Given the description of an element on the screen output the (x, y) to click on. 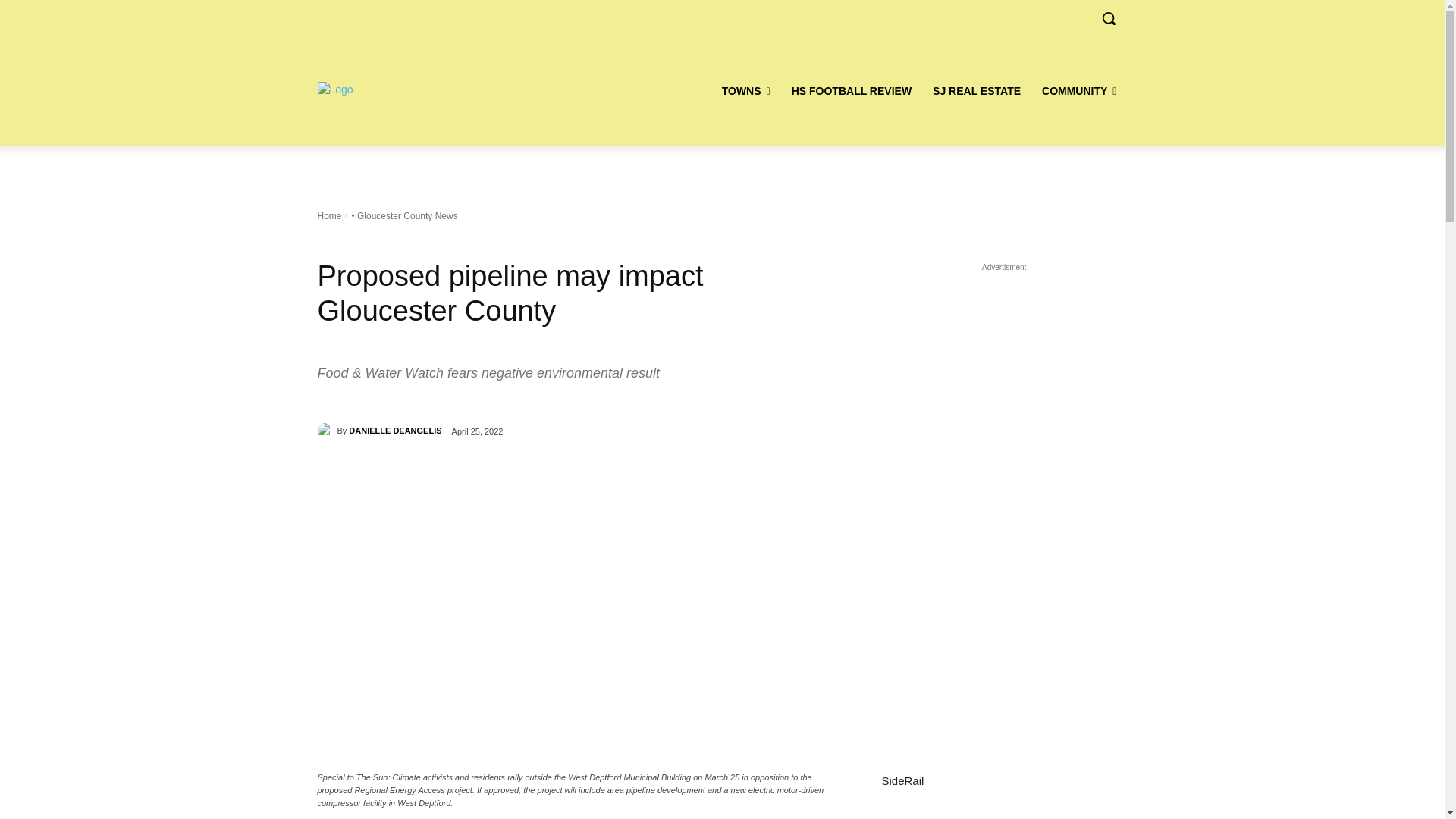
DANIELLE DEANGELIS (326, 430)
